Given the description of an element on the screen output the (x, y) to click on. 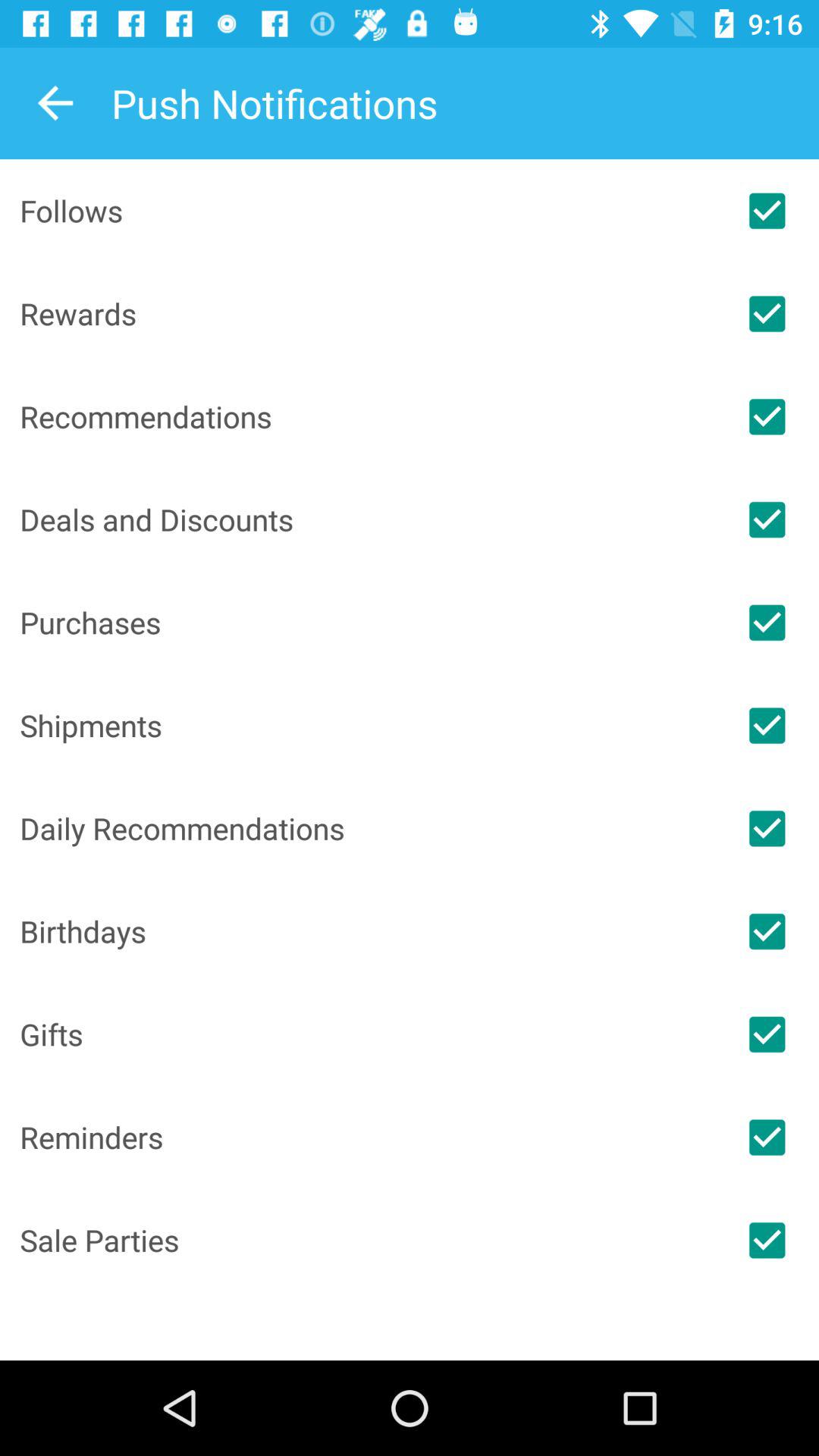
toggle recommendations notifications (767, 416)
